Given the description of an element on the screen output the (x, y) to click on. 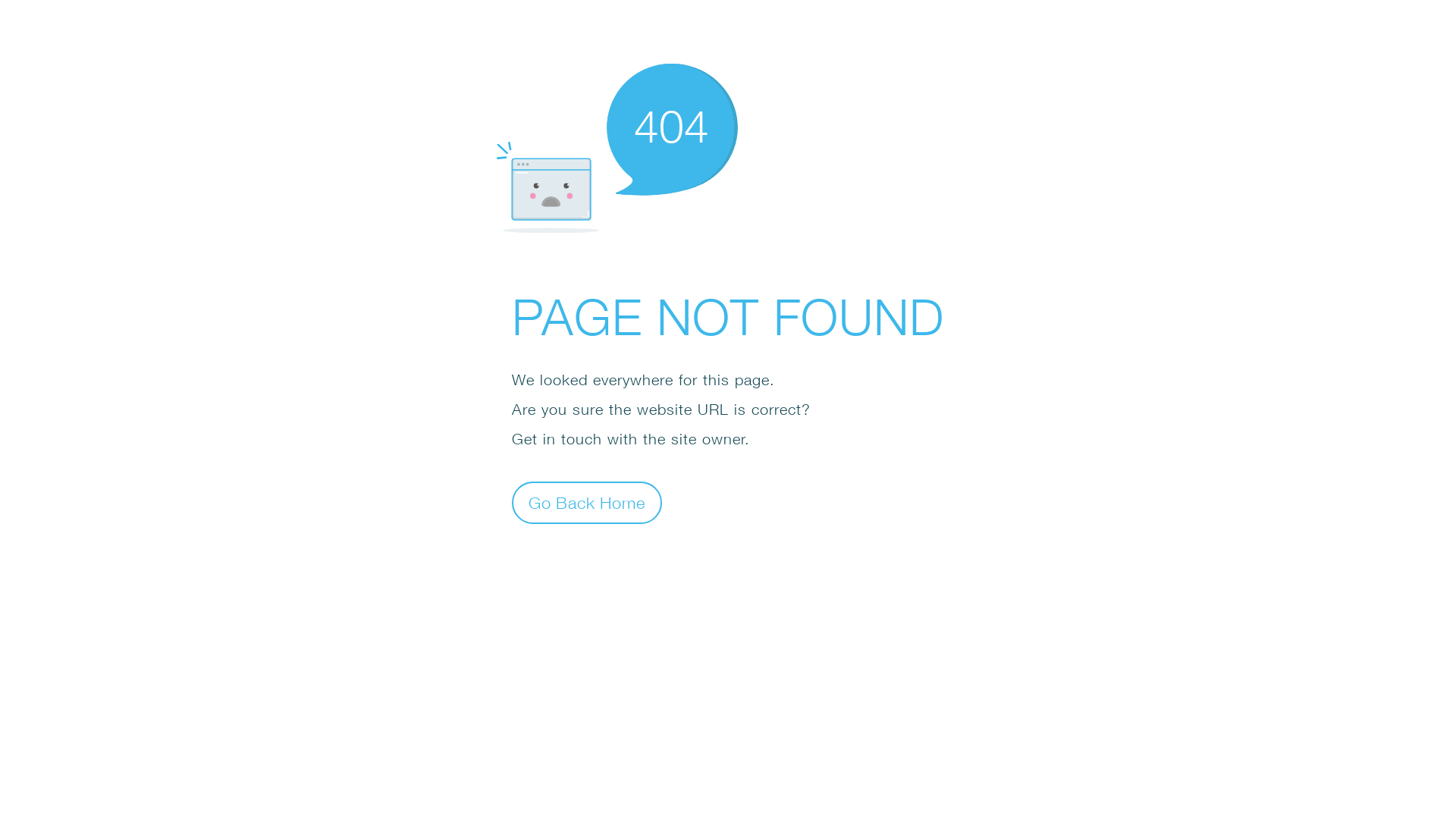
Go Back Home Element type: text (586, 502)
